Given the description of an element on the screen output the (x, y) to click on. 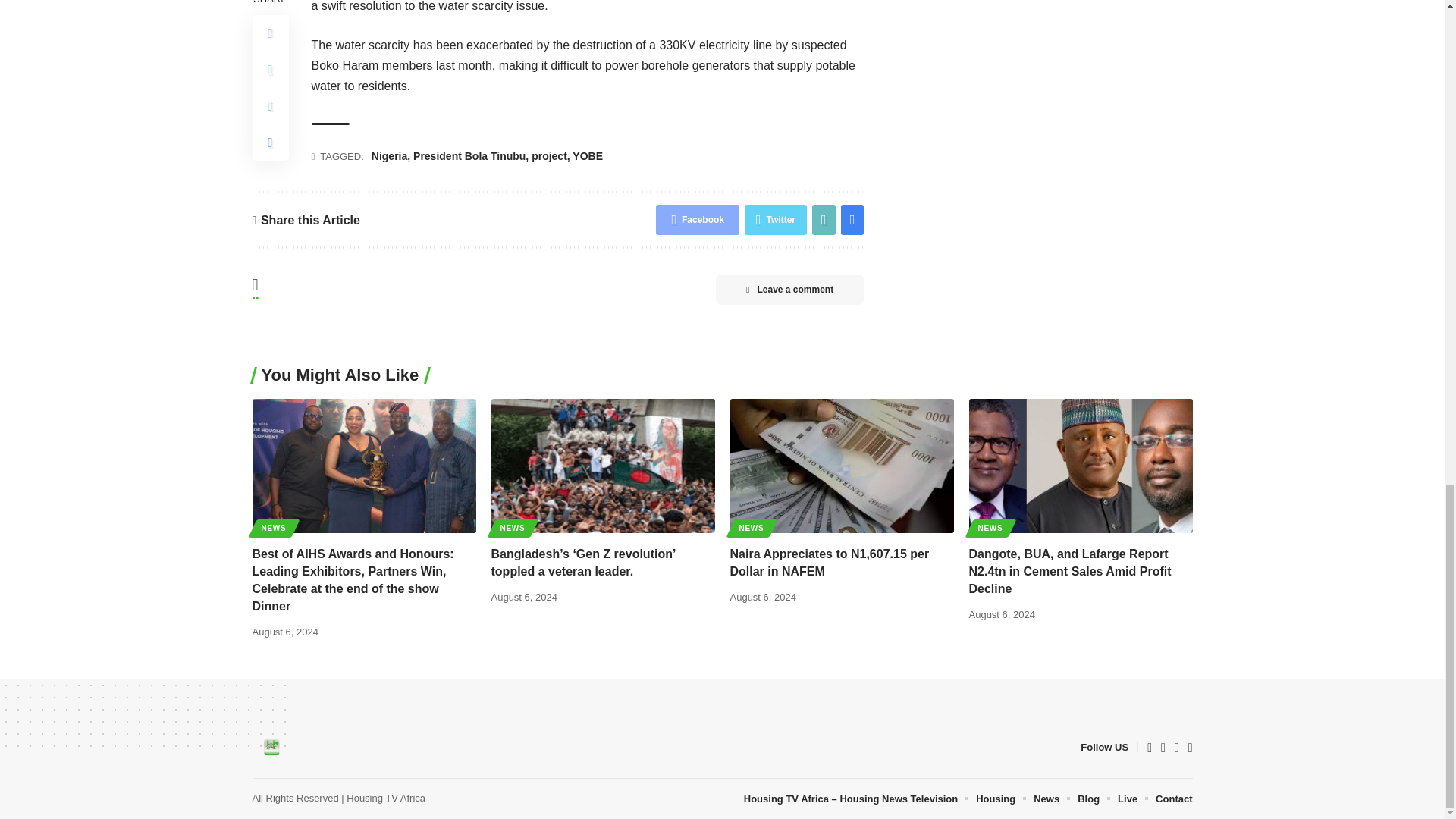
Housing TV Africa (270, 747)
Naira Appreciates to N1,607.15 per Dollar in NAFEM (841, 465)
